Given the description of an element on the screen output the (x, y) to click on. 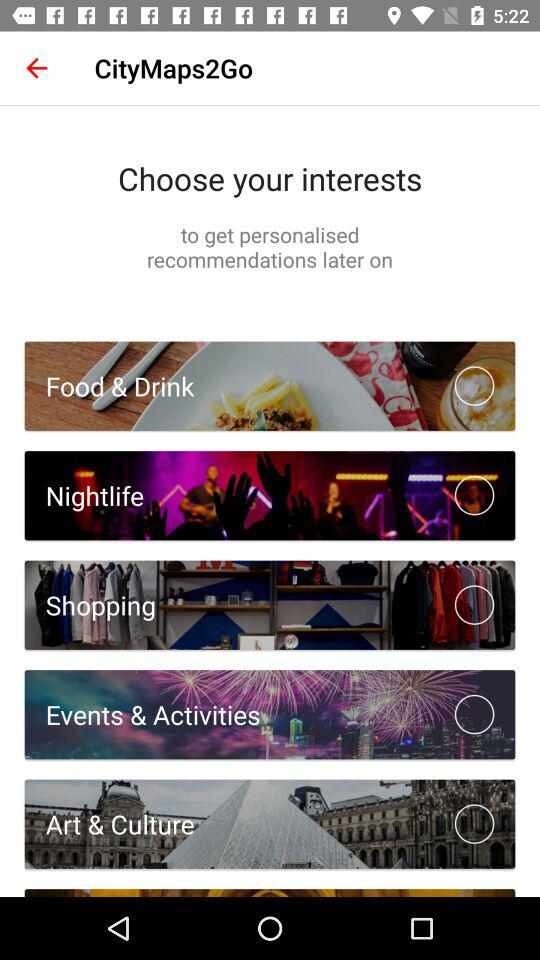
turn off nightlife icon (84, 495)
